Given the description of an element on the screen output the (x, y) to click on. 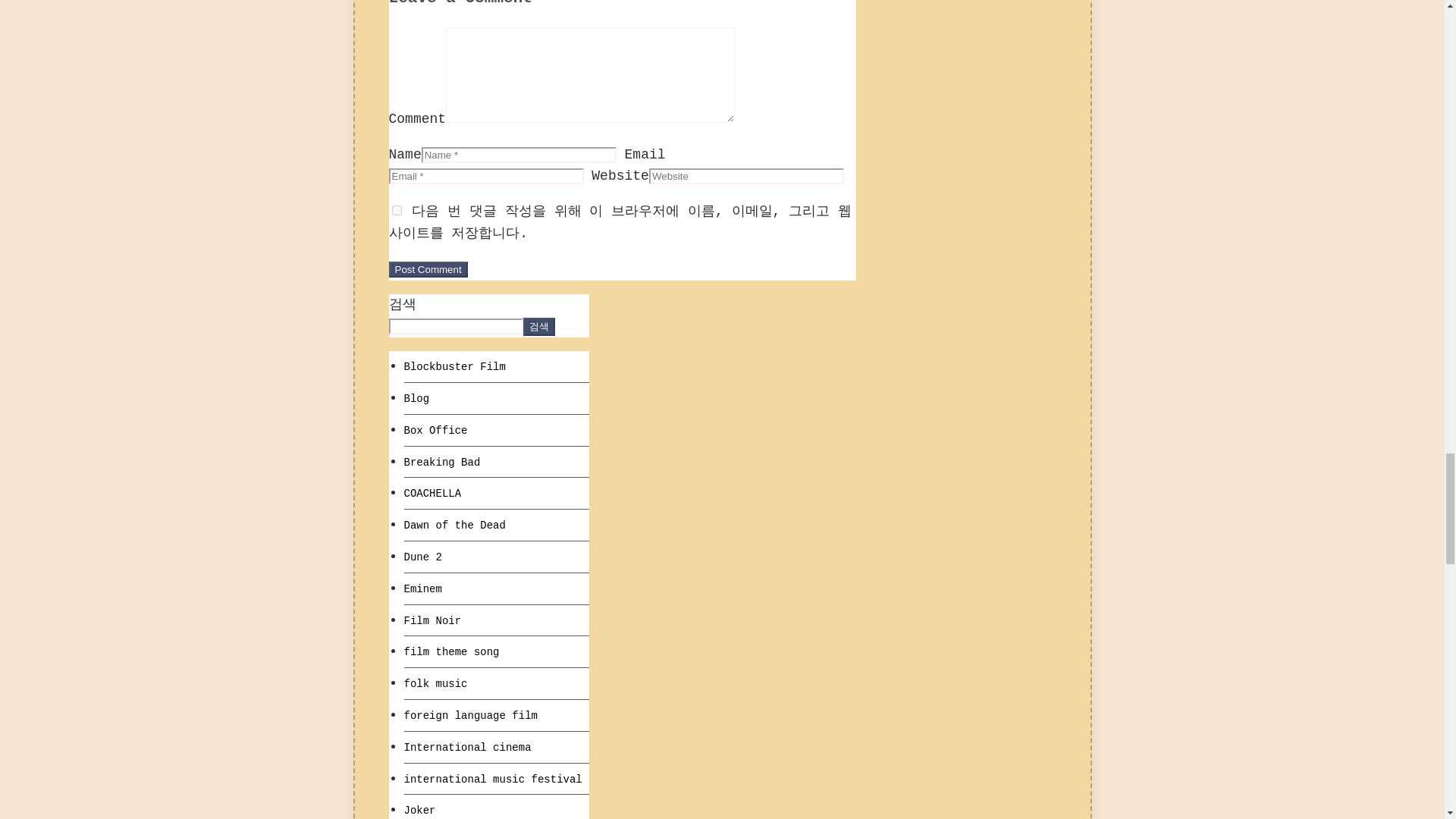
International cinema (467, 747)
Blog (416, 398)
COACHELLA (432, 493)
foreign language film (470, 715)
Dawn of the Dead (454, 525)
Post Comment (427, 269)
folk music (435, 684)
Eminem (422, 589)
yes (396, 210)
Box Office (435, 430)
film theme song (451, 652)
Dune 2 (422, 557)
Film Noir (432, 621)
Blockbuster Film (454, 367)
Breaking Bad (441, 462)
